Given the description of an element on the screen output the (x, y) to click on. 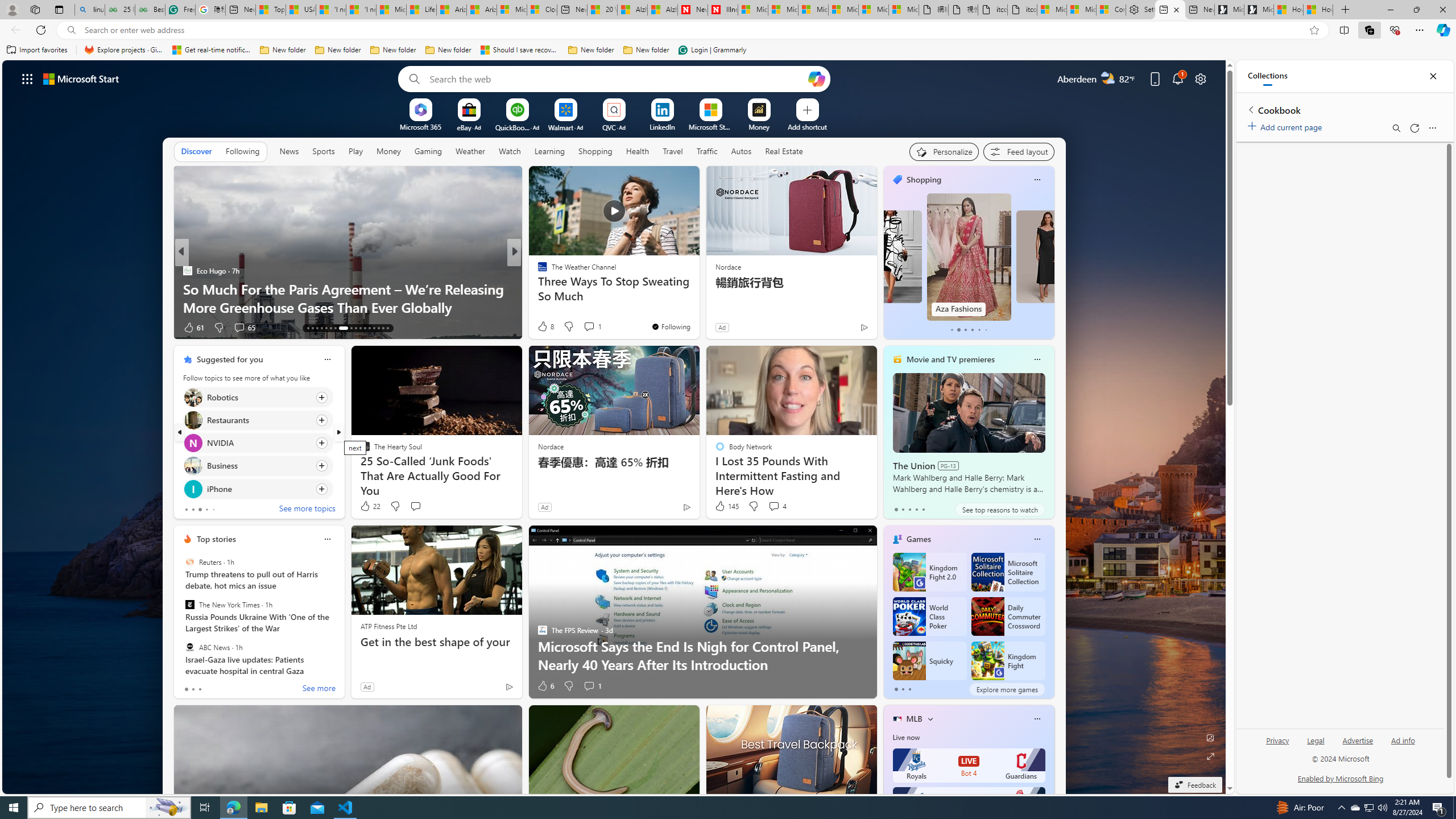
tab-2 (908, 689)
View comments 4 Comment (773, 505)
147 Like (545, 327)
View comments 36 Comment (592, 327)
More interests (930, 718)
View comments 12 Comment (592, 327)
AutomationID: tab-17 (326, 328)
